Given the description of an element on the screen output the (x, y) to click on. 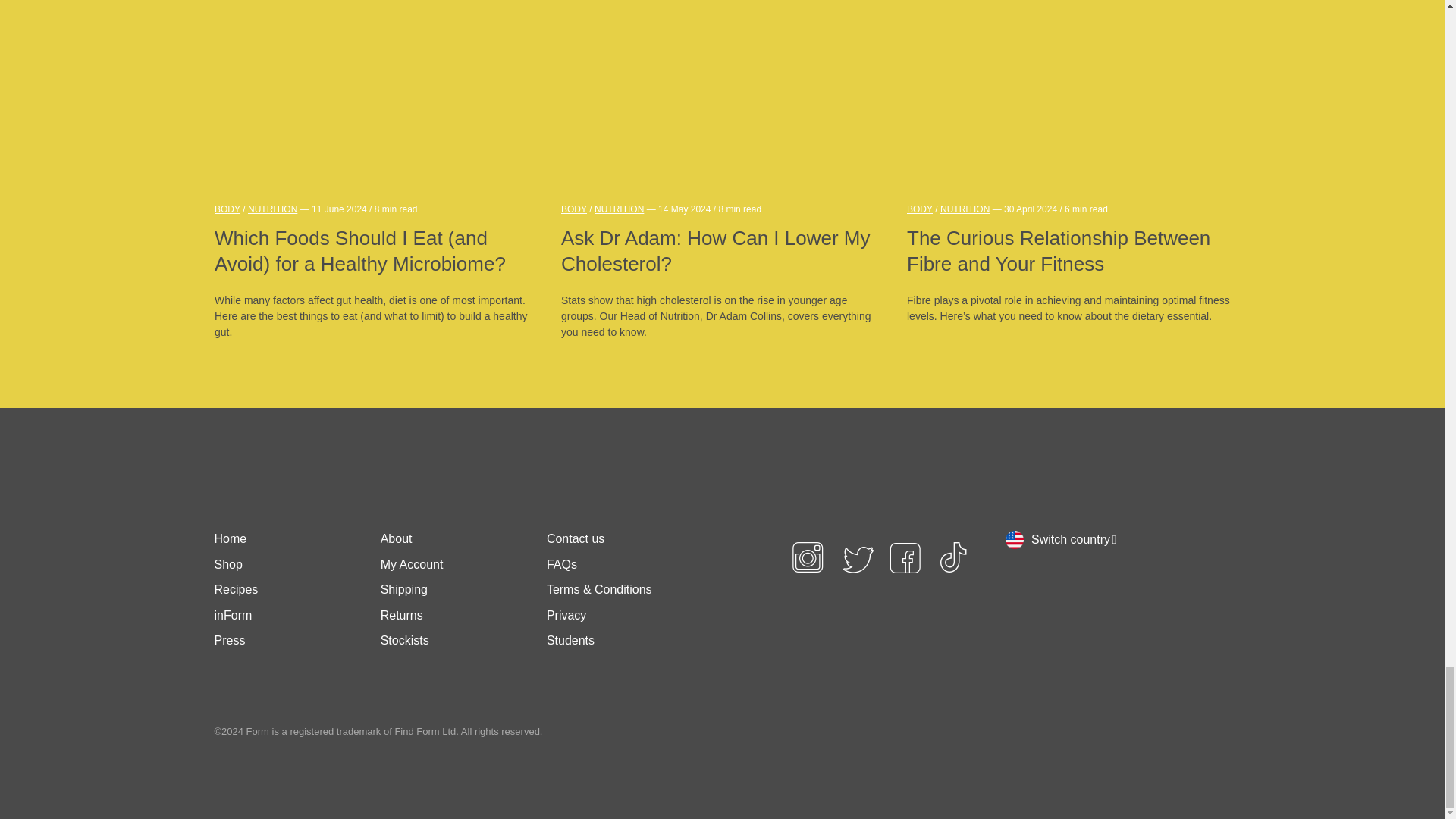
BCorp (953, 654)
CoolBrands UK (823, 654)
Ocean Positive (895, 654)
